Given the description of an element on the screen output the (x, y) to click on. 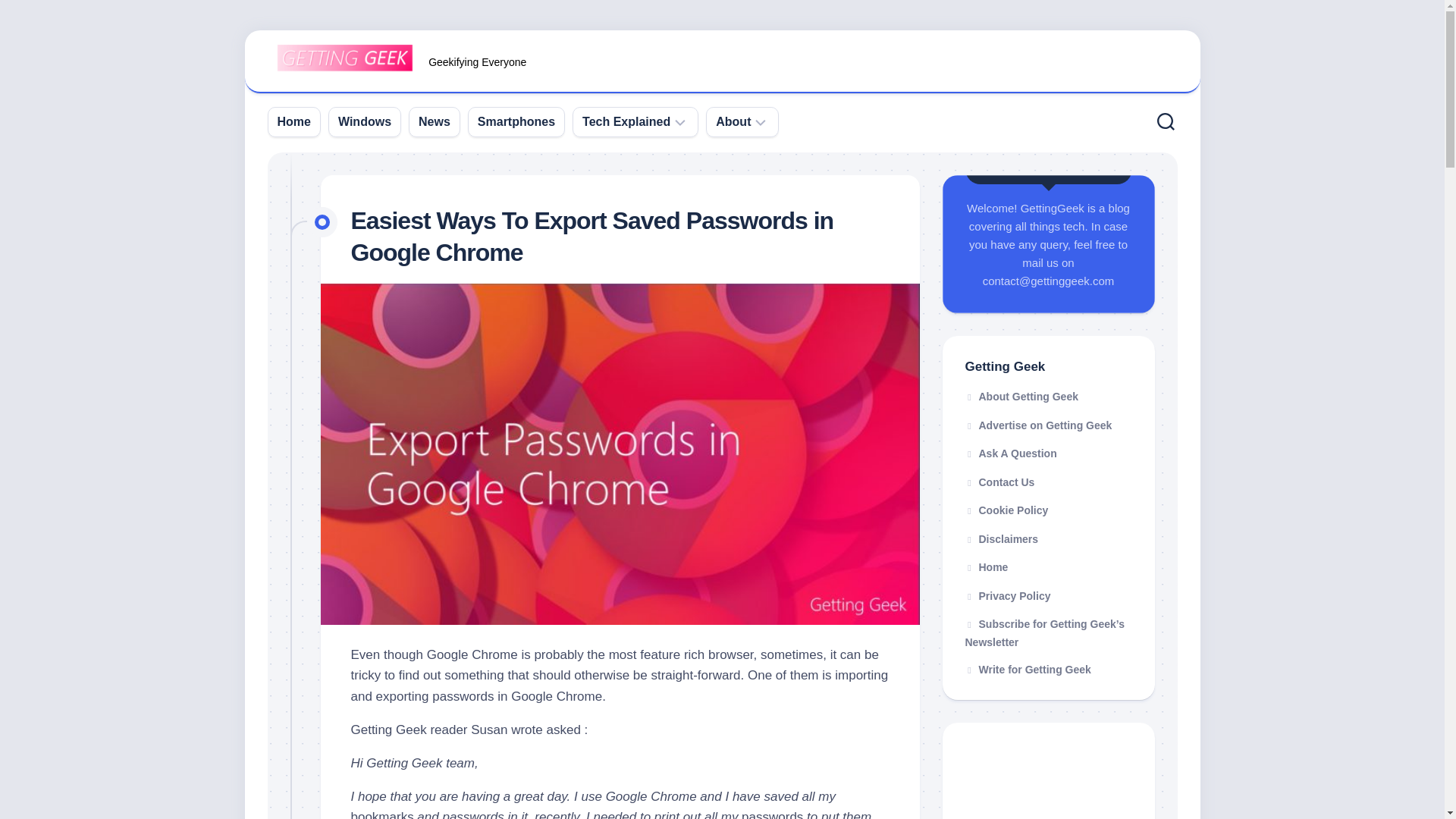
About (733, 121)
News (434, 121)
Tech Explained (625, 121)
Geekifying Everyone (721, 62)
Home (294, 121)
Smartphones (515, 121)
Windows (364, 121)
